Given the description of an element on the screen output the (x, y) to click on. 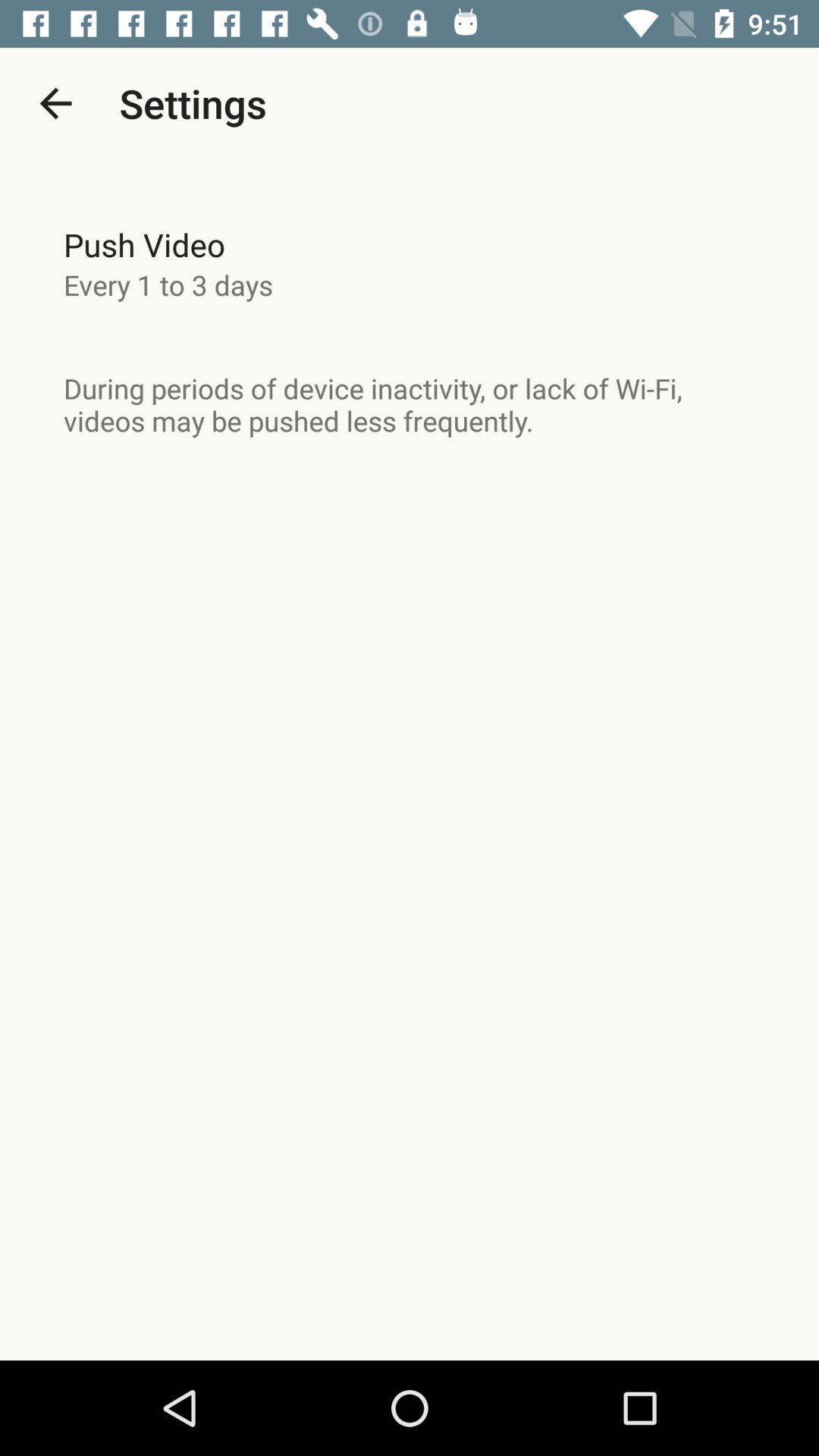
press item below push video (168, 284)
